Given the description of an element on the screen output the (x, y) to click on. 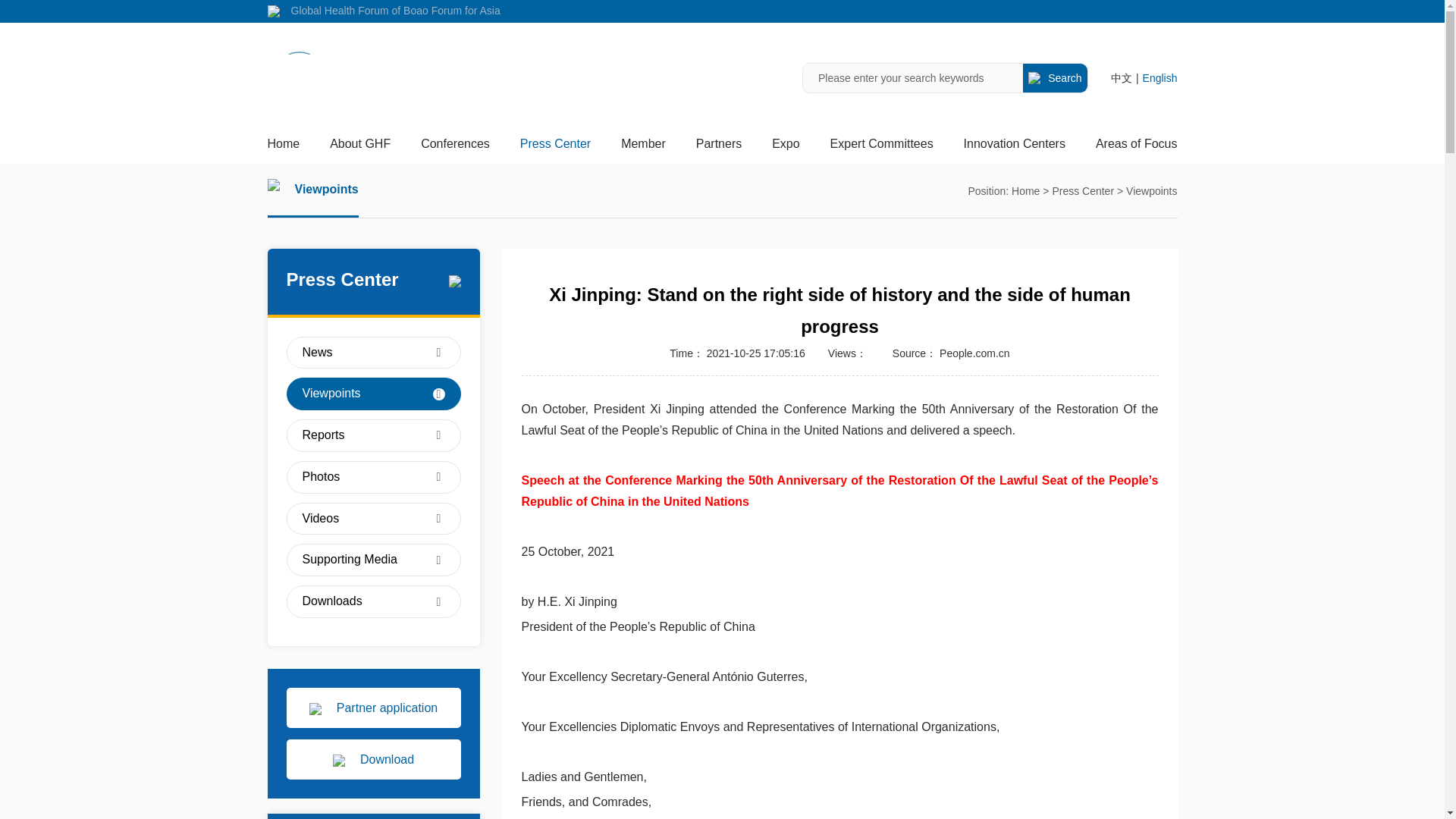
Member (643, 148)
Conferences (454, 148)
Home (282, 148)
Partners (718, 148)
Home (282, 148)
Press Center (555, 148)
English (1159, 77)
Expo (785, 148)
About GHF (360, 148)
Search (1055, 77)
Expert Committees (881, 148)
